Given the description of an element on the screen output the (x, y) to click on. 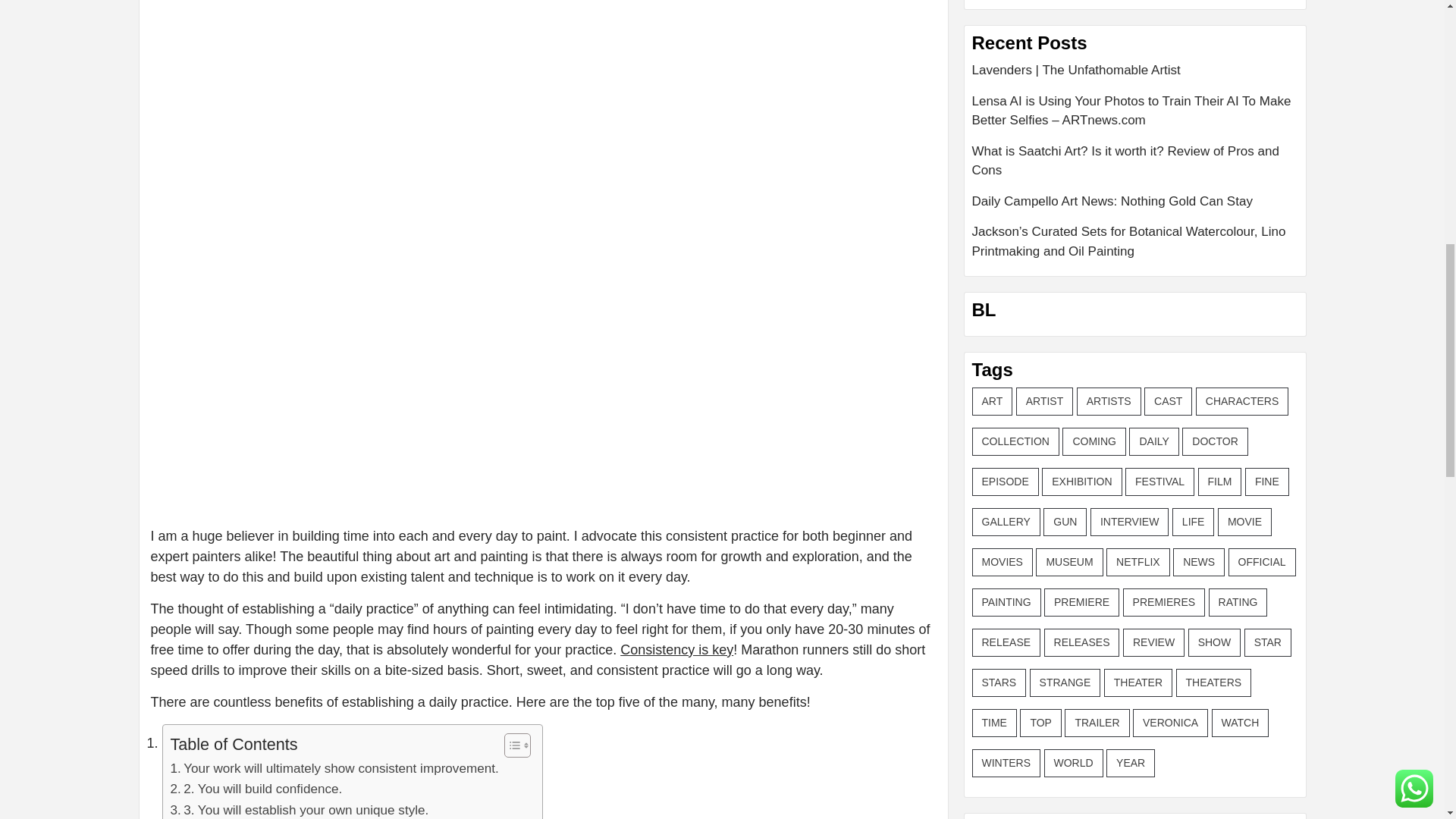
2. You will build confidence. (256, 788)
2. You will build confidence. (256, 788)
Your work will ultimately show consistent improvement. (333, 768)
3. You will establish your own unique style. (299, 809)
Your work will ultimately show consistent improvement. (333, 768)
3. You will establish your own unique style. (299, 809)
